Given the description of an element on the screen output the (x, y) to click on. 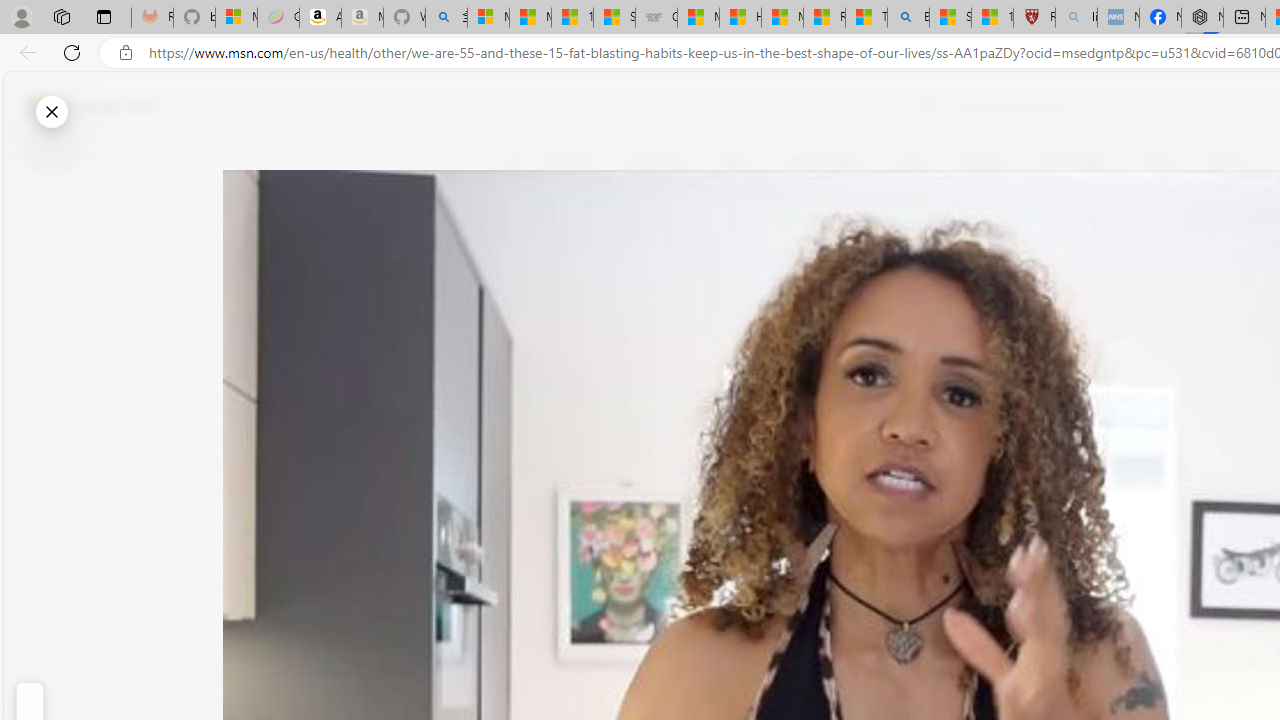
Stocks - MSN (613, 17)
Skip to content (86, 105)
Class: at-item (525, 468)
Skip to footer (82, 105)
6 Like (525, 244)
